Given the description of an element on the screen output the (x, y) to click on. 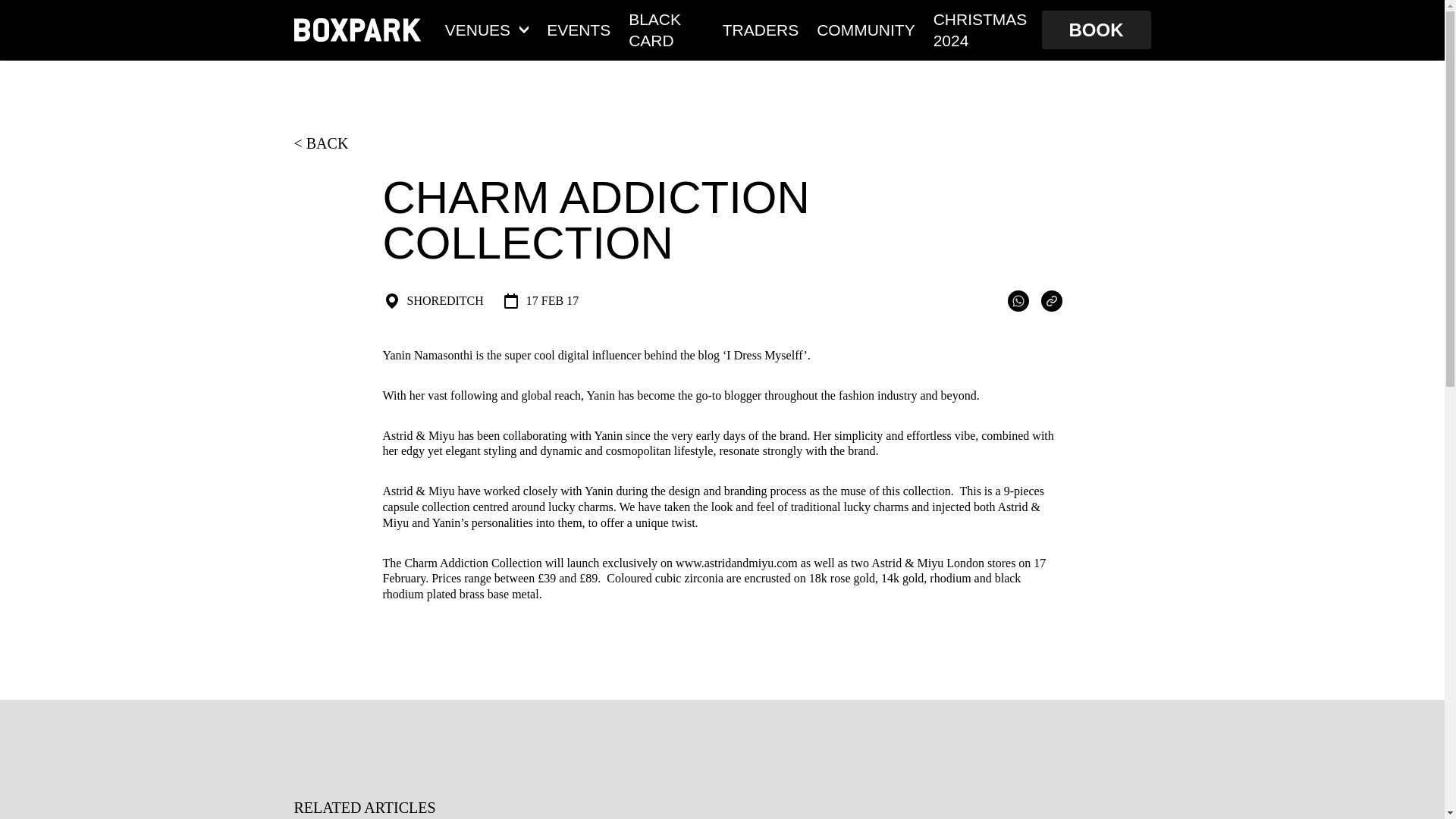
BLACK CARD (666, 29)
EVENTS (578, 29)
CHRISTMAS 2024 (982, 29)
COMMUNITY (865, 29)
TRADERS (759, 29)
VENUES (486, 29)
